Given the description of an element on the screen output the (x, y) to click on. 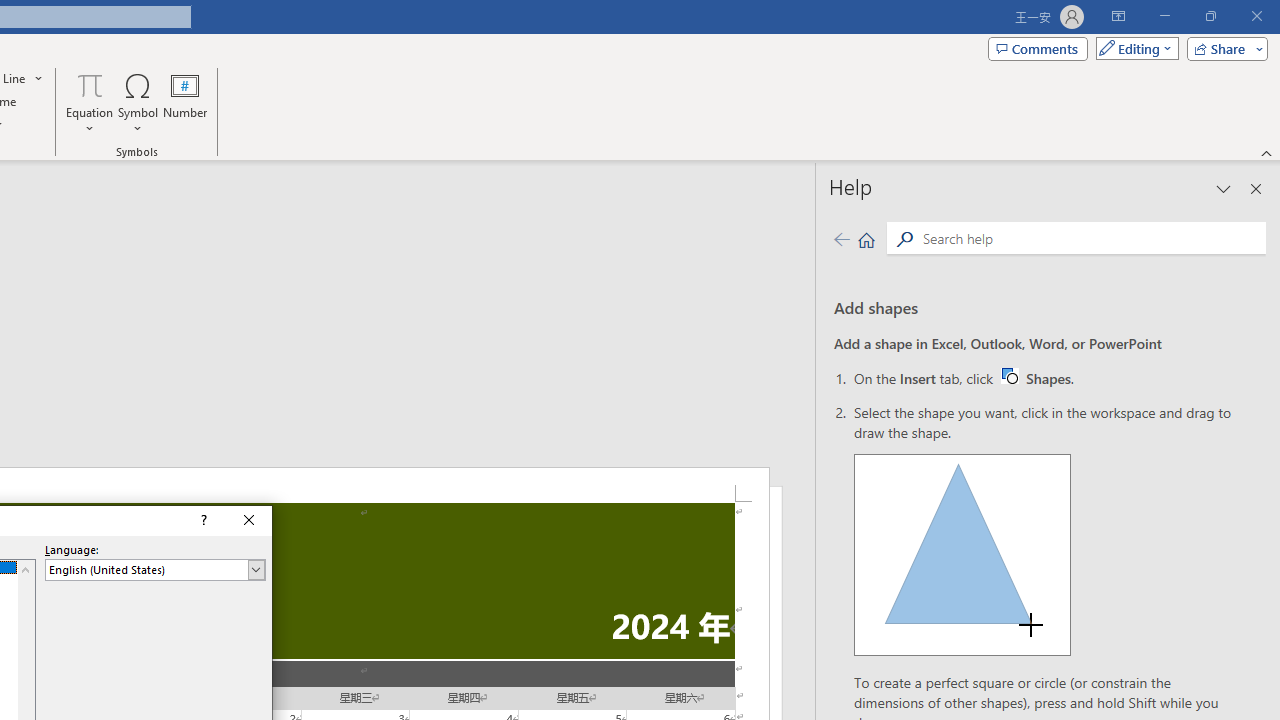
Language: (155, 569)
Drawing a shape (962, 554)
Equation (90, 84)
Symbol (138, 102)
Context help (202, 520)
